Given the description of an element on the screen output the (x, y) to click on. 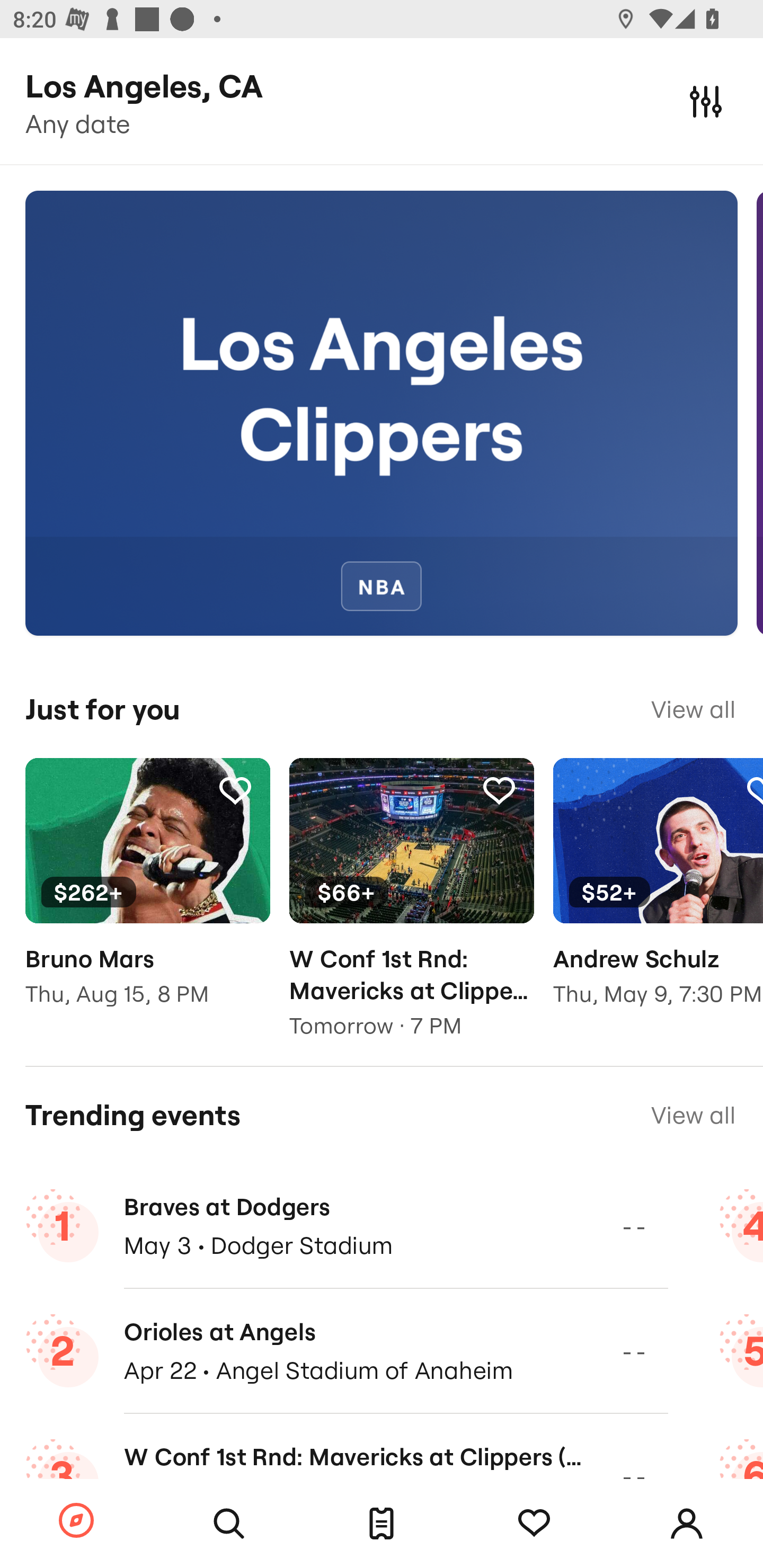
Filters (705, 100)
View all (693, 709)
Tracking $262+ Bruno Mars Thu, Aug 15, 8 PM (147, 895)
Tracking $52+ Andrew Schulz Thu, May 9, 7:30 PM (658, 895)
Tracking (234, 790)
Tracking (498, 790)
View all (693, 1114)
Browse (76, 1521)
Search (228, 1523)
Tickets (381, 1523)
Tracking (533, 1523)
Account (686, 1523)
